Given the description of an element on the screen output the (x, y) to click on. 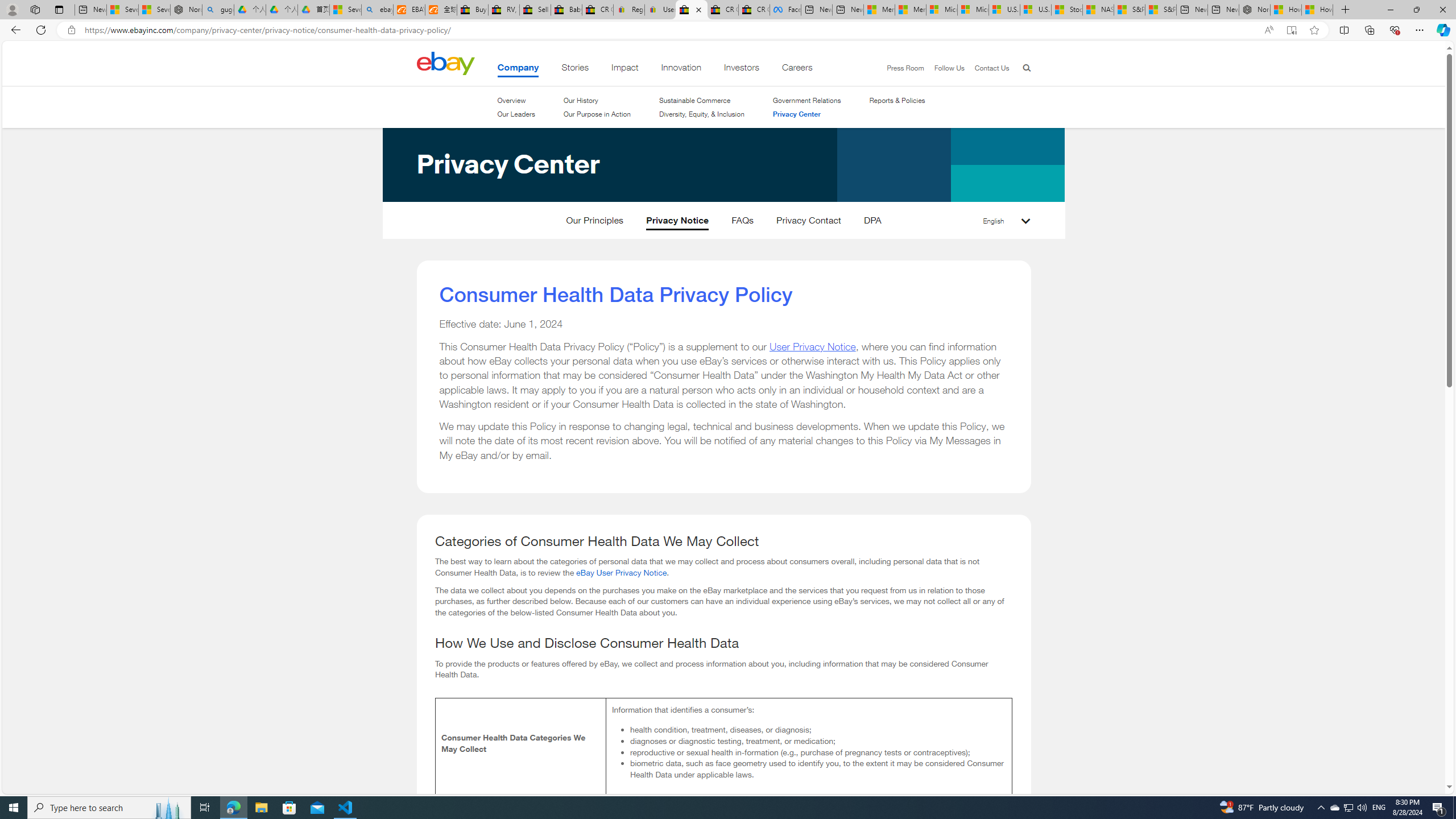
Diversity, Equity, & Inclusion (701, 113)
Our Principles (595, 222)
Privacy Center (462, 225)
Careers (796, 69)
Company . This is the current section. (517, 69)
Consumer Health Data Privacy Policy - eBay Inc. (691, 9)
Enter Immersive Reader (F9) (1291, 29)
User Privacy Notice | eBay (660, 9)
Class: desktop (445, 63)
Impact (625, 69)
Reports & Policies (897, 100)
Register: Create a personal eBay account (628, 9)
